Given the description of an element on the screen output the (x, y) to click on. 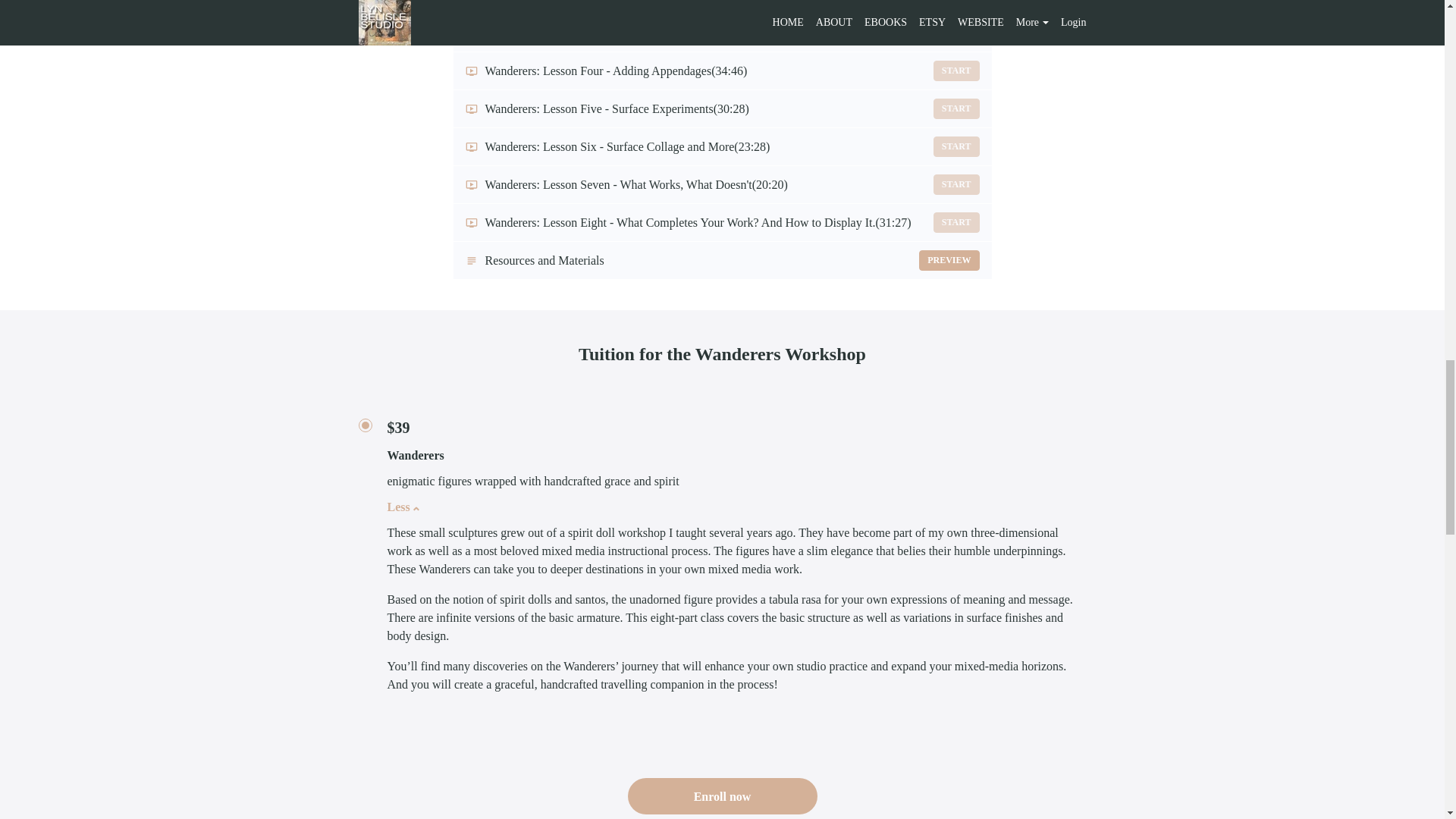
START (956, 184)
START (956, 32)
START (956, 2)
START (721, 260)
START (956, 146)
START (956, 70)
START (956, 108)
